Given the description of an element on the screen output the (x, y) to click on. 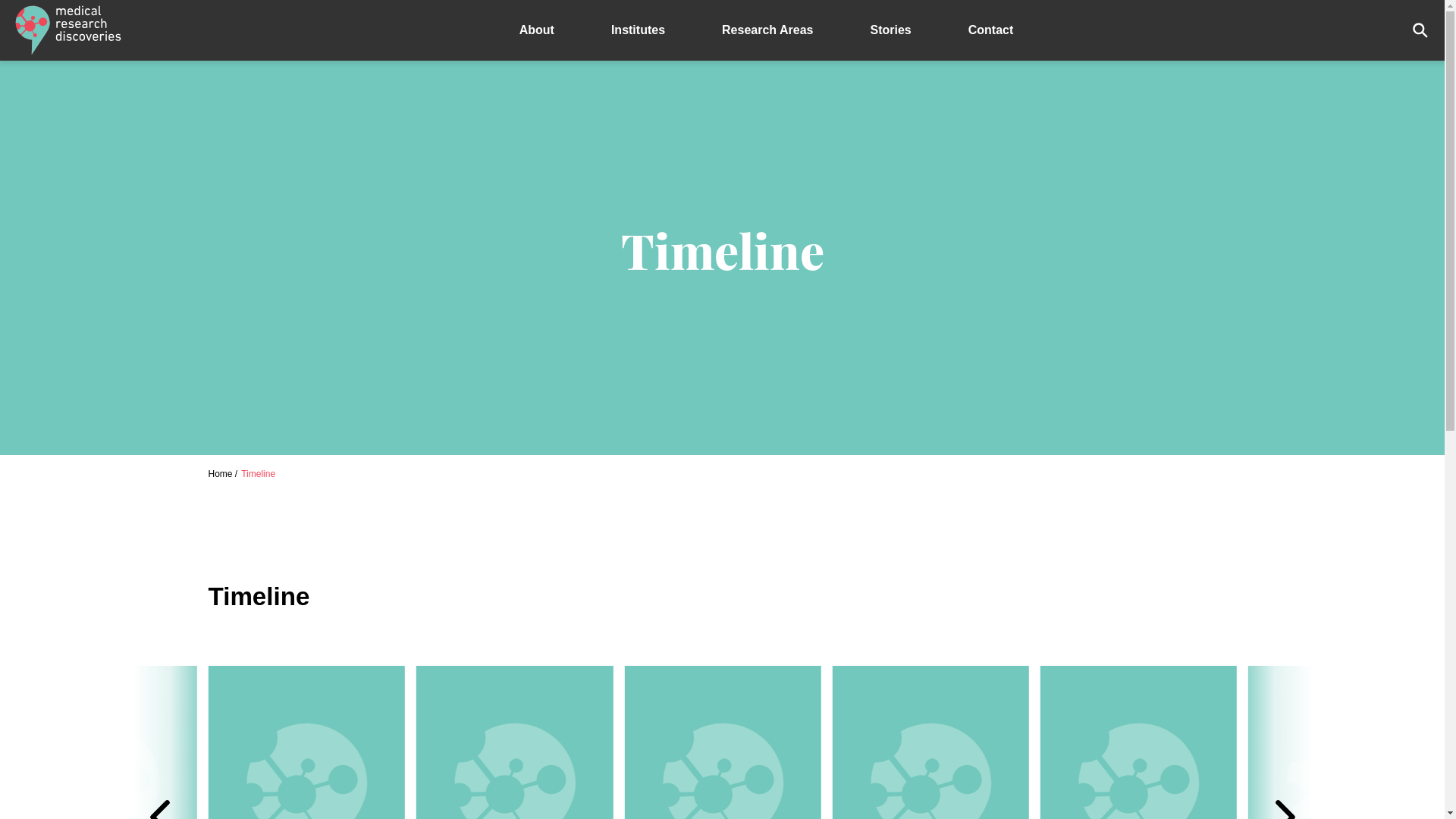
About Element type: text (536, 30)
Institutes Element type: text (637, 30)
Home Element type: text (219, 473)
Research Areas Element type: text (767, 30)
Contact Element type: text (990, 30)
Stories Element type: text (890, 30)
